Given the description of an element on the screen output the (x, y) to click on. 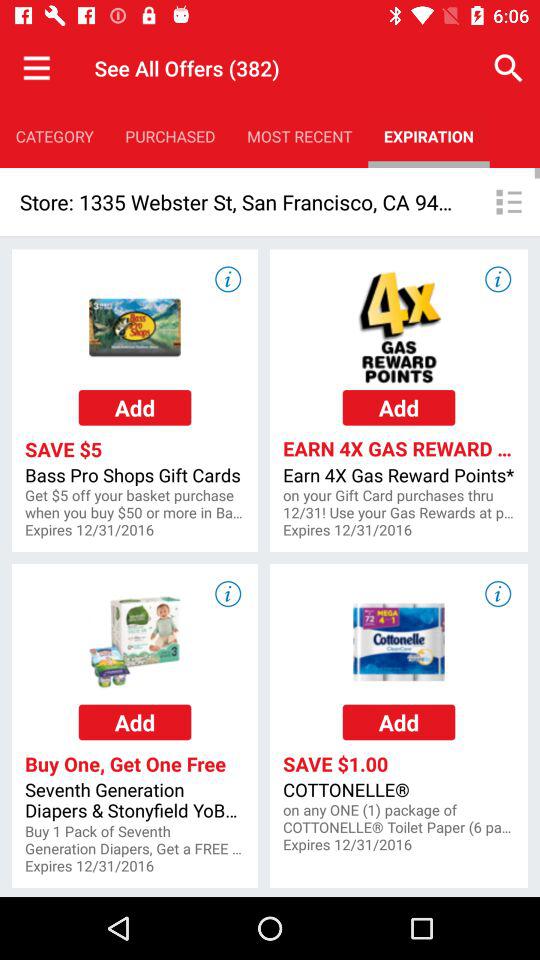
press the item to the left of the see all offers item (36, 68)
